Given the description of an element on the screen output the (x, y) to click on. 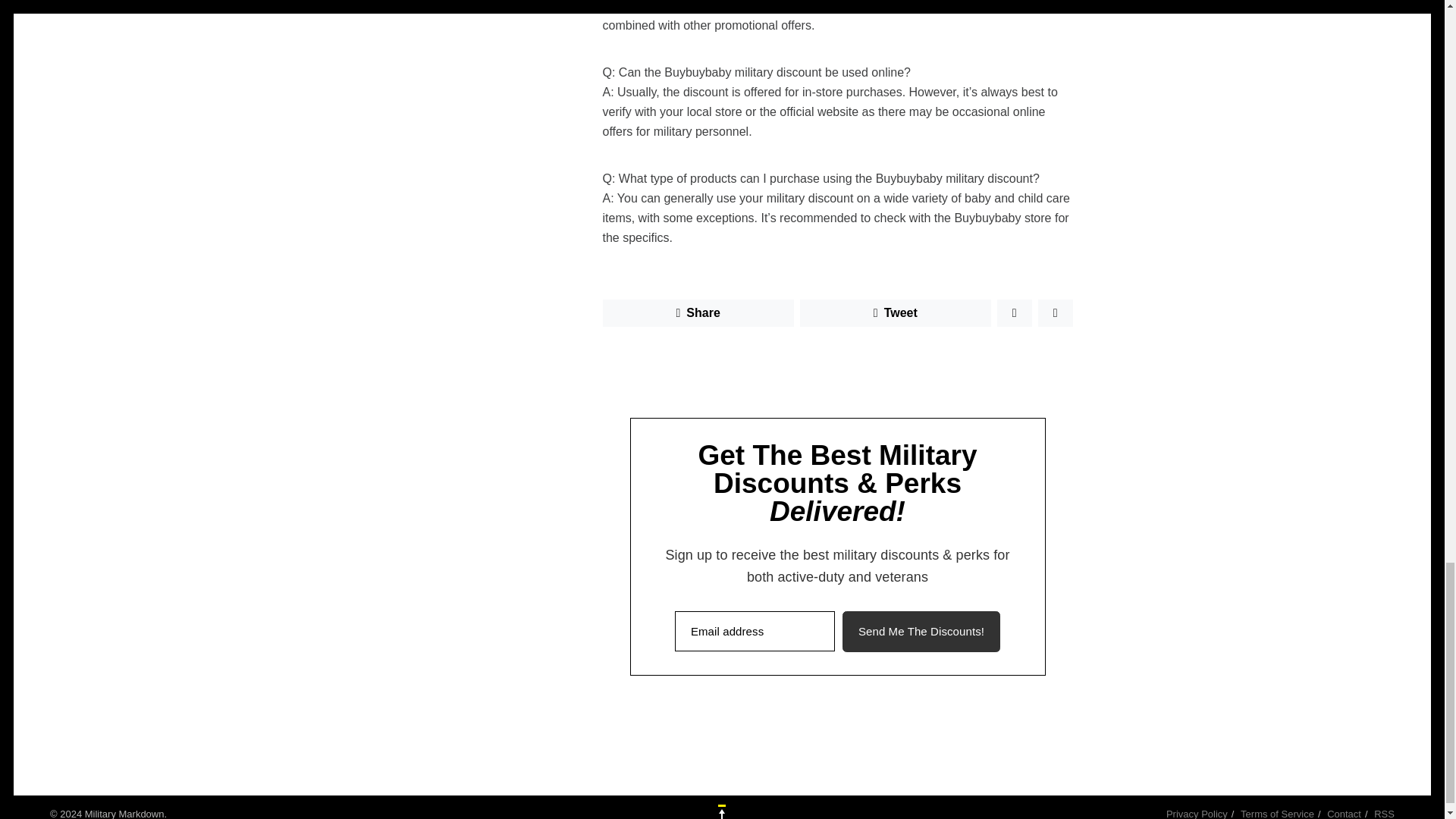
Send Me The Discounts! (921, 630)
Tweet (895, 312)
Share (697, 312)
